Given the description of an element on the screen output the (x, y) to click on. 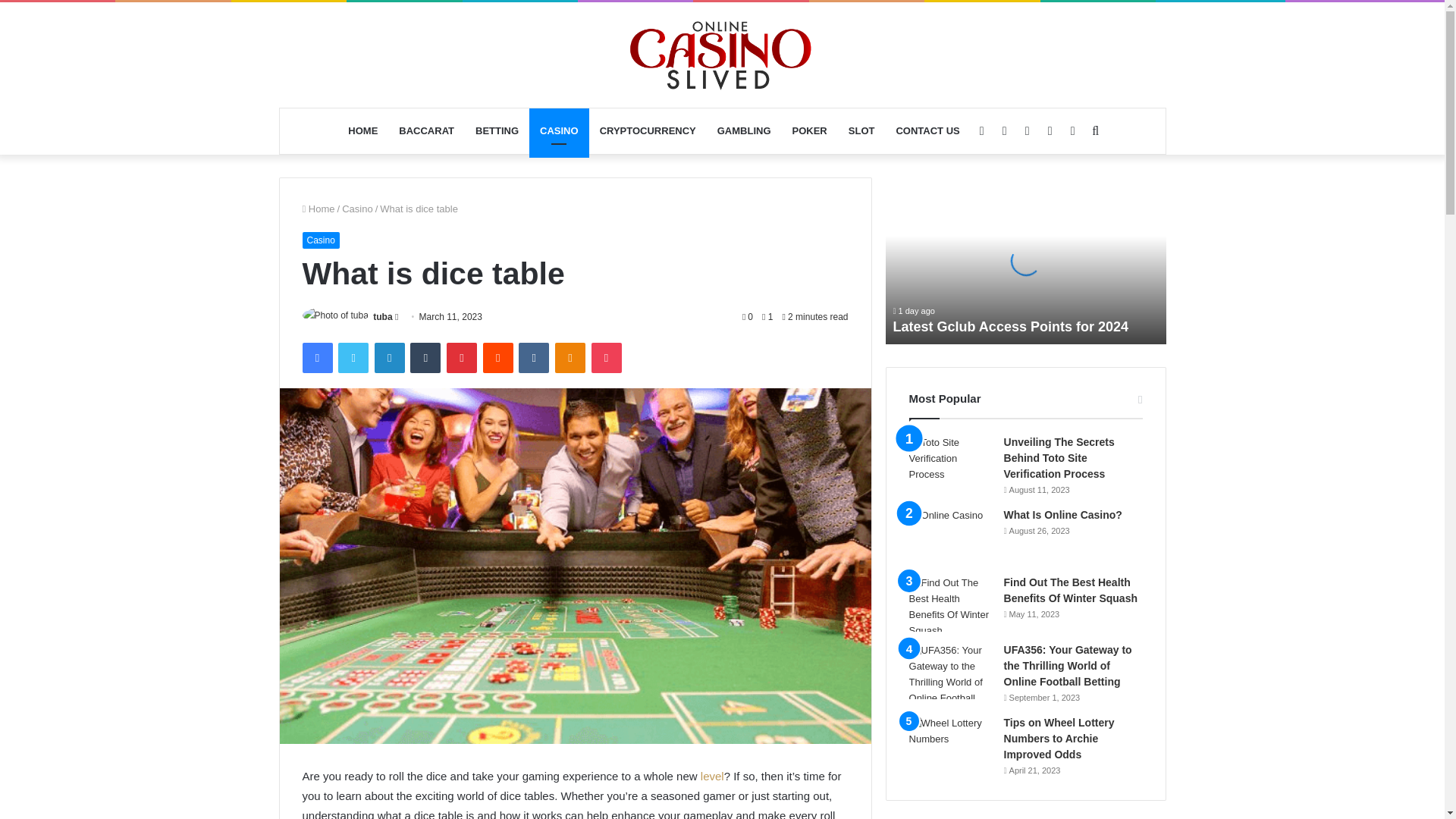
BETTING (496, 130)
CRYPTOCURRENCY (647, 130)
Odnoklassniki (569, 358)
Odnoklassniki (569, 358)
Pocket (606, 358)
Tumblr (425, 358)
Online Casinos Lived (722, 54)
Pinterest (461, 358)
Tumblr (425, 358)
Pocket (606, 358)
